Given the description of an element on the screen output the (x, y) to click on. 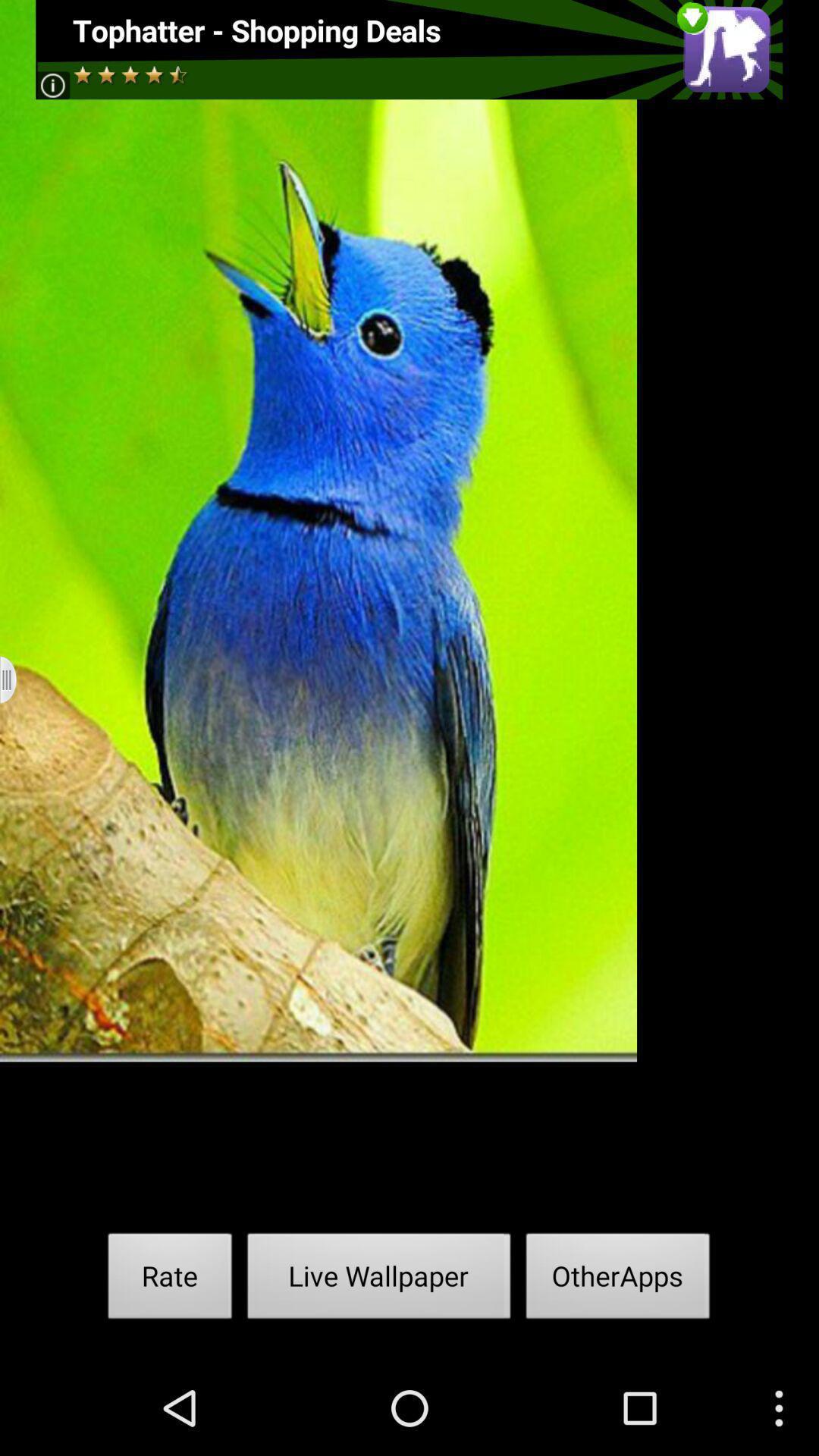
advatisment (408, 49)
